Given the description of an element on the screen output the (x, y) to click on. 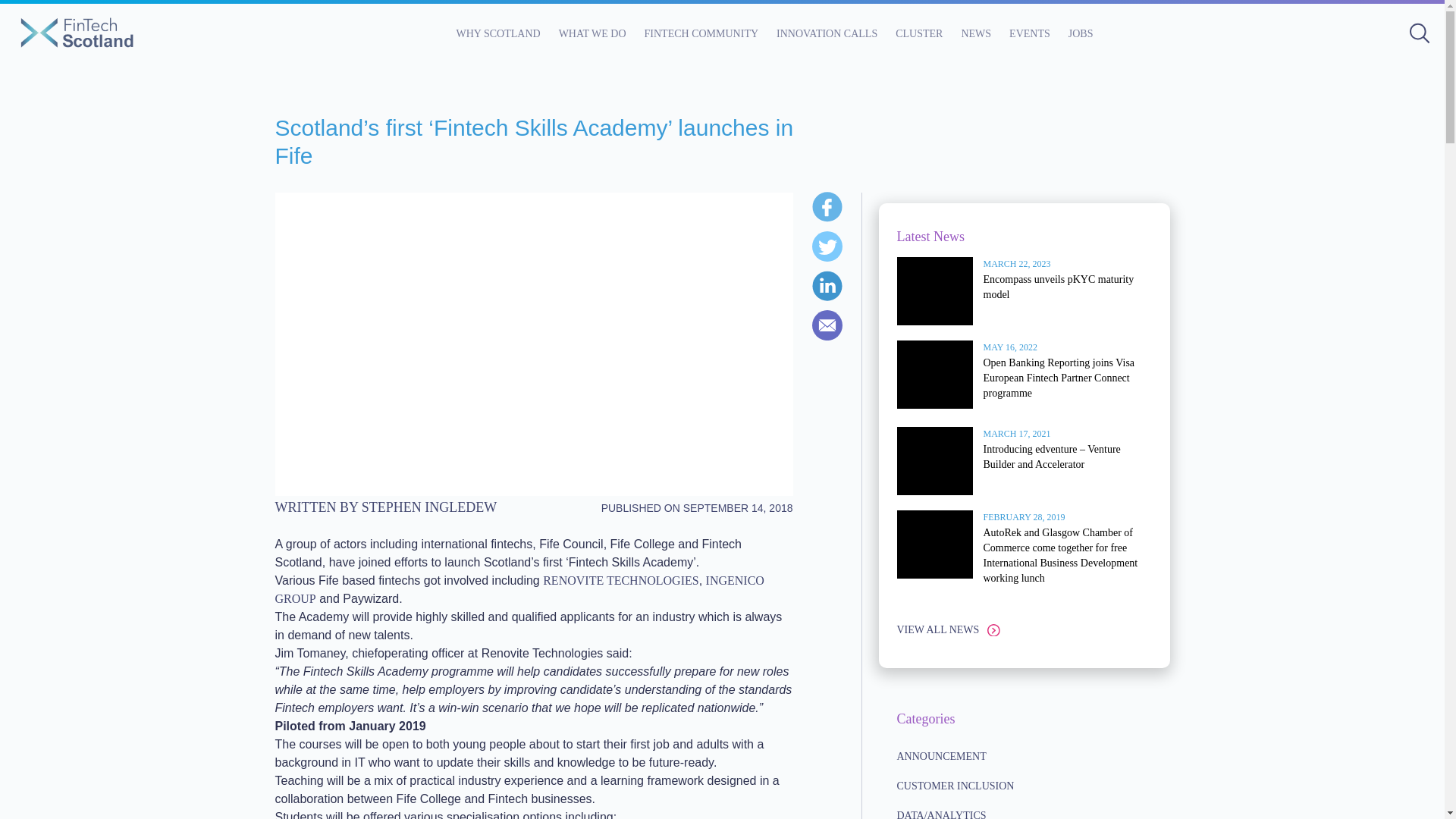
CLUSTER (918, 33)
FINTECH COMMUNITY (701, 33)
WHAT WE DO (592, 33)
INNOVATION CALLS (826, 33)
EVENTS (1029, 33)
JOBS (1080, 33)
NEWS (975, 33)
WHY SCOTLAND (498, 33)
